Given the description of an element on the screen output the (x, y) to click on. 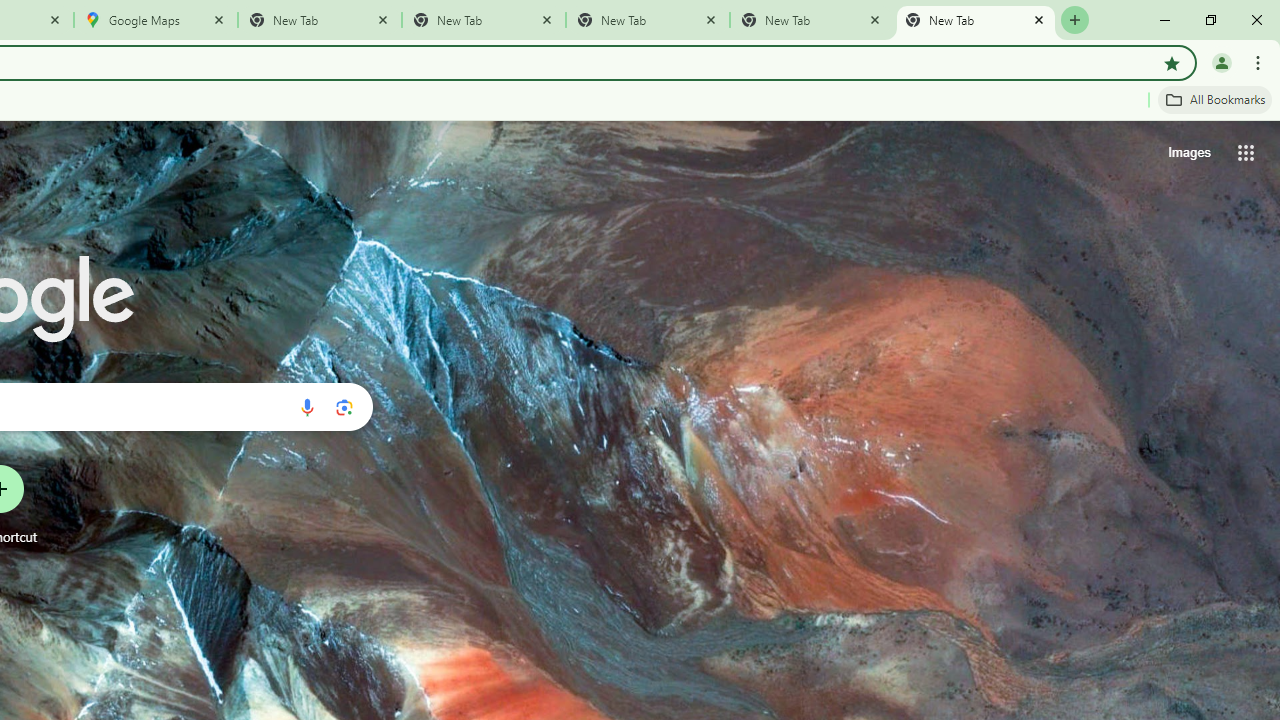
New Tab (647, 20)
New Tab (975, 20)
